Given the description of an element on the screen output the (x, y) to click on. 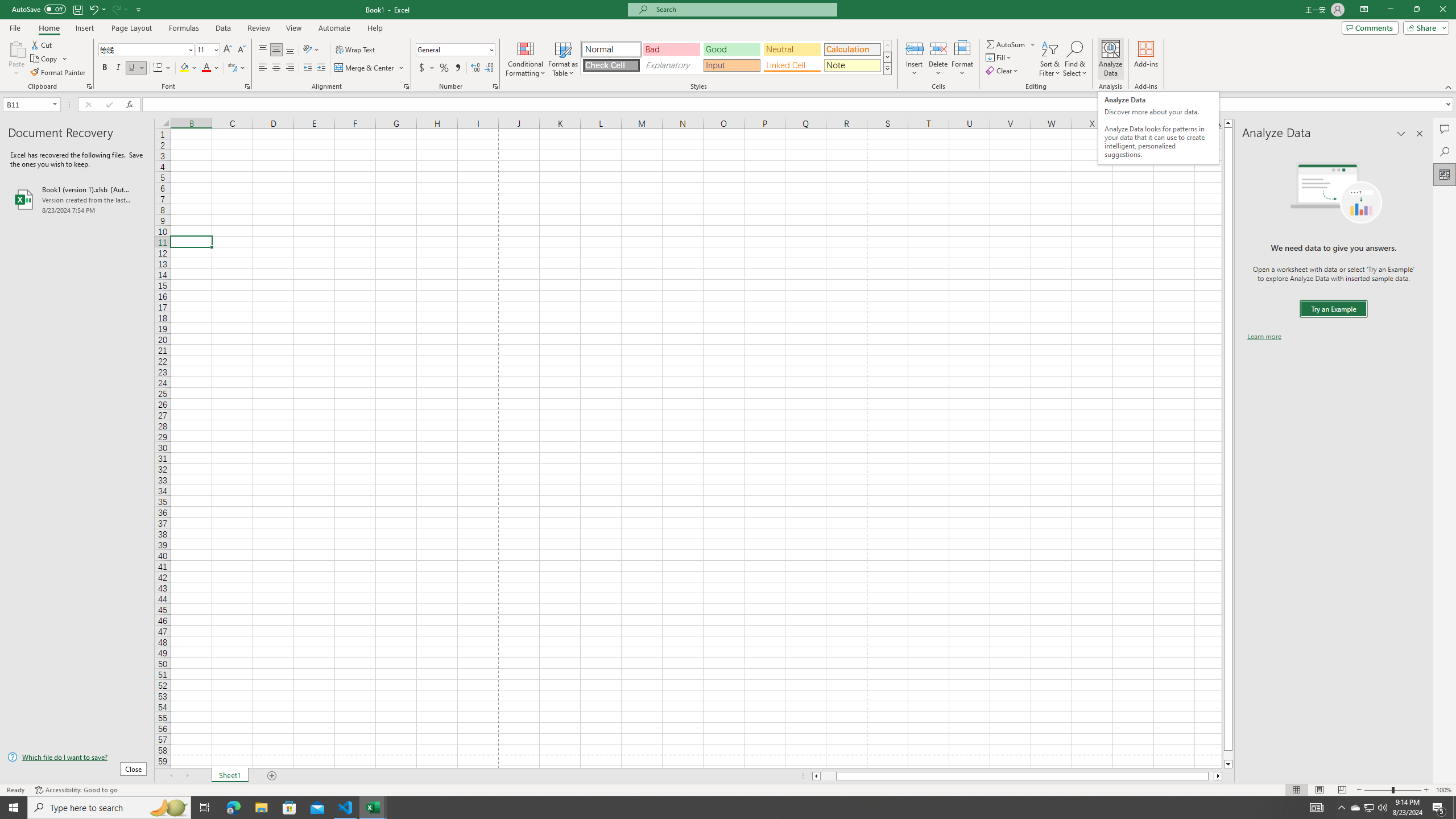
Customize Quick Access Toolbar (139, 9)
Number Format (451, 49)
Borders (162, 67)
Note (852, 65)
Underline (131, 67)
Close pane (1419, 133)
View (293, 28)
Undo (92, 9)
Paste (16, 48)
Normal (1296, 790)
Format Cell Font (247, 85)
Page Layout (1318, 790)
Sheet1 (229, 775)
Accounting Number Format (422, 67)
